Given the description of an element on the screen output the (x, y) to click on. 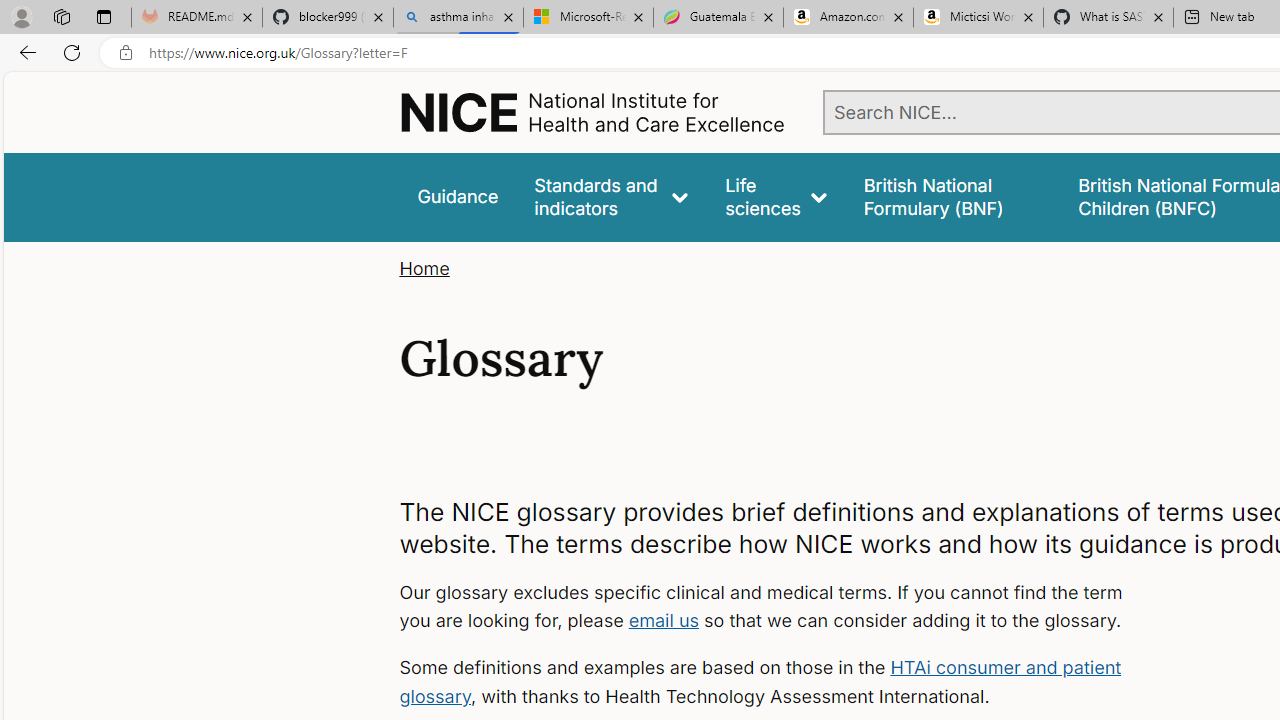
false (952, 196)
asthma inhaler - Search (458, 17)
HTAi consumer and patient glossary (760, 681)
